Given the description of an element on the screen output the (x, y) to click on. 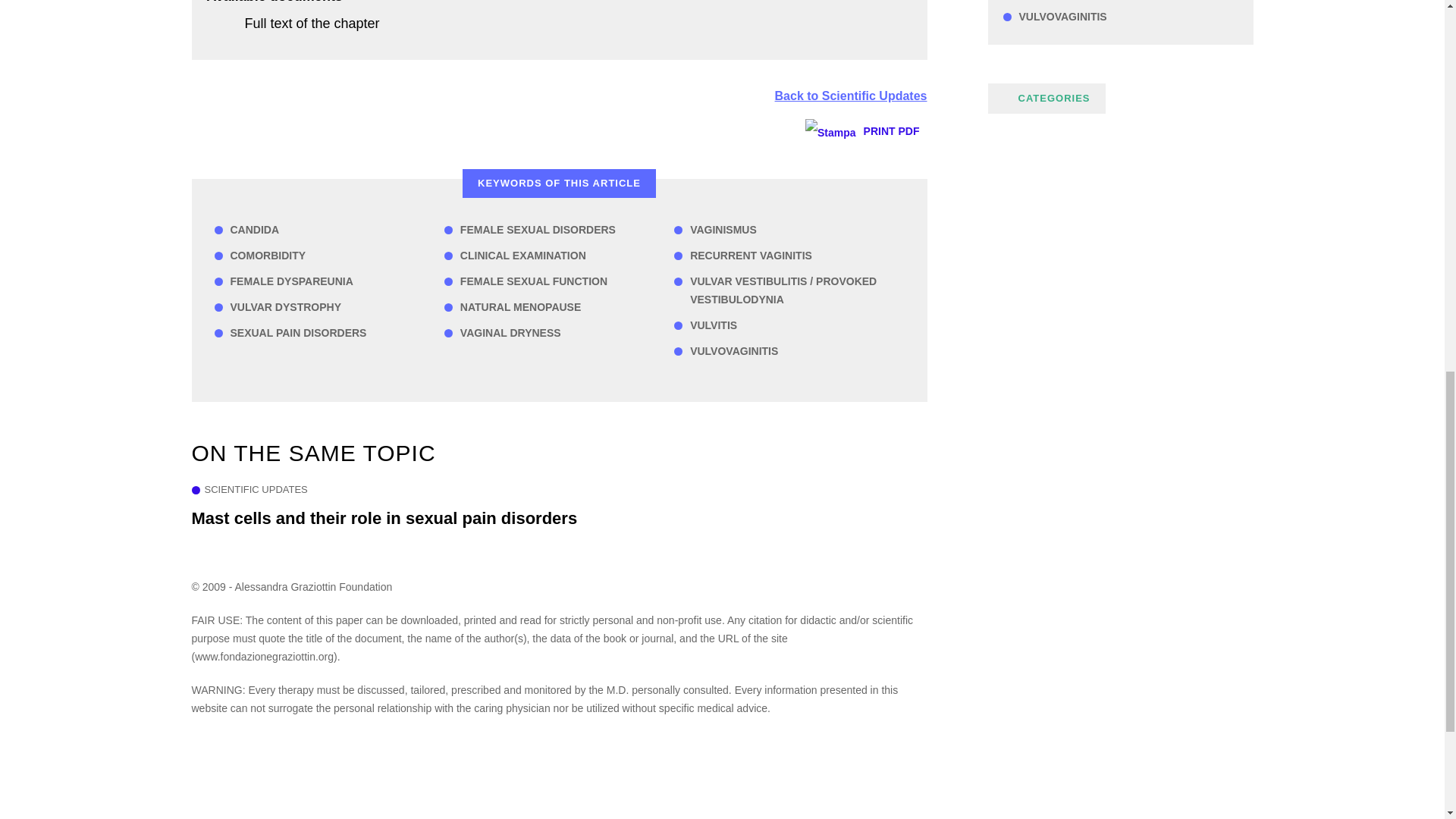
PRINT PDF (865, 131)
CANDIDA (329, 229)
Back to Scientific Updates (850, 95)
COMORBIDITY (329, 255)
FEMALE DYSPAREUNIA (329, 281)
VULVAR DYSTROPHY (329, 307)
Full text of the chapter (311, 23)
Stampa (830, 132)
